Given the description of an element on the screen output the (x, y) to click on. 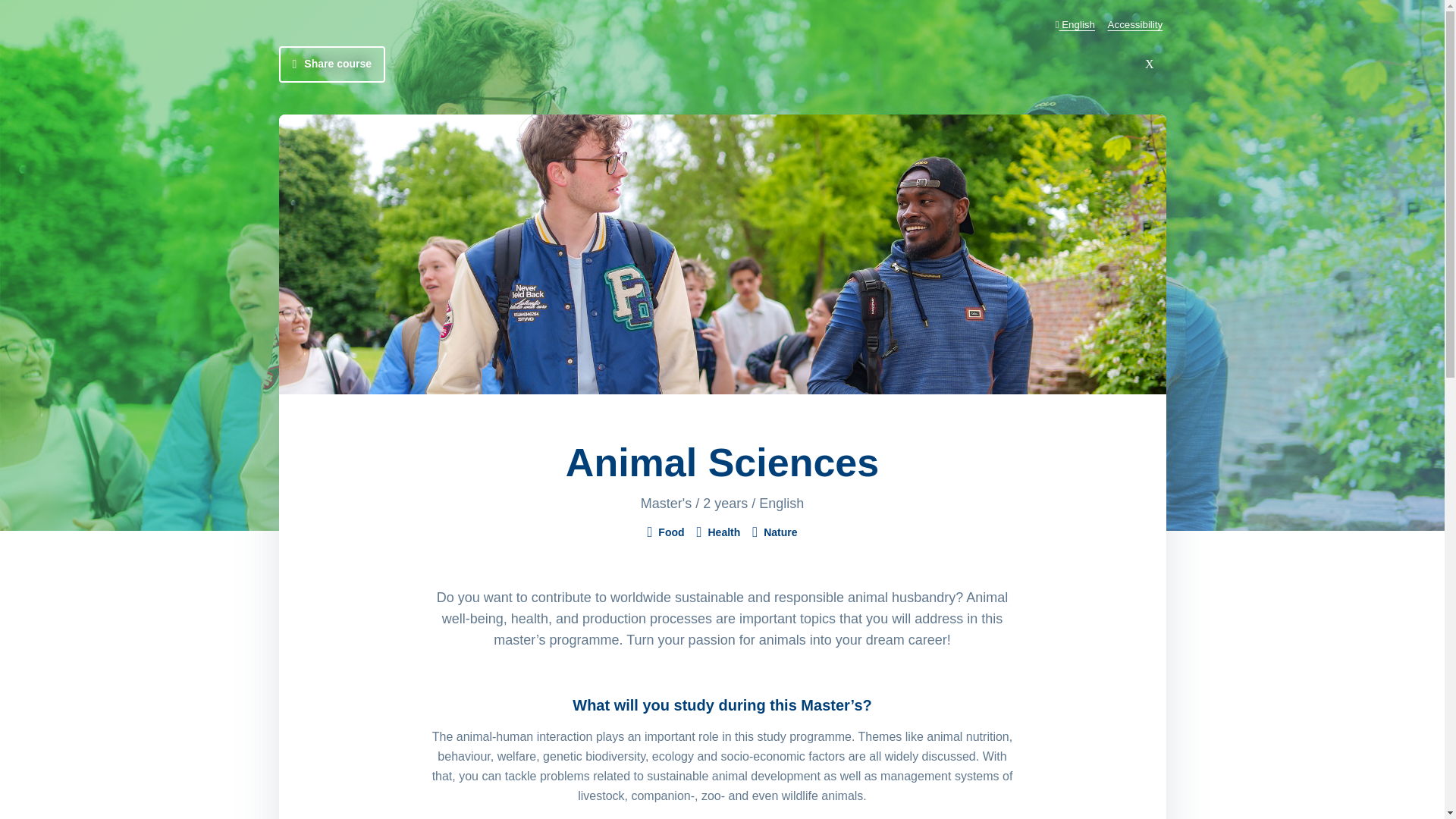
Back (1149, 63)
Share course (332, 63)
English (1074, 24)
Accessibility (1134, 24)
